Given the description of an element on the screen output the (x, y) to click on. 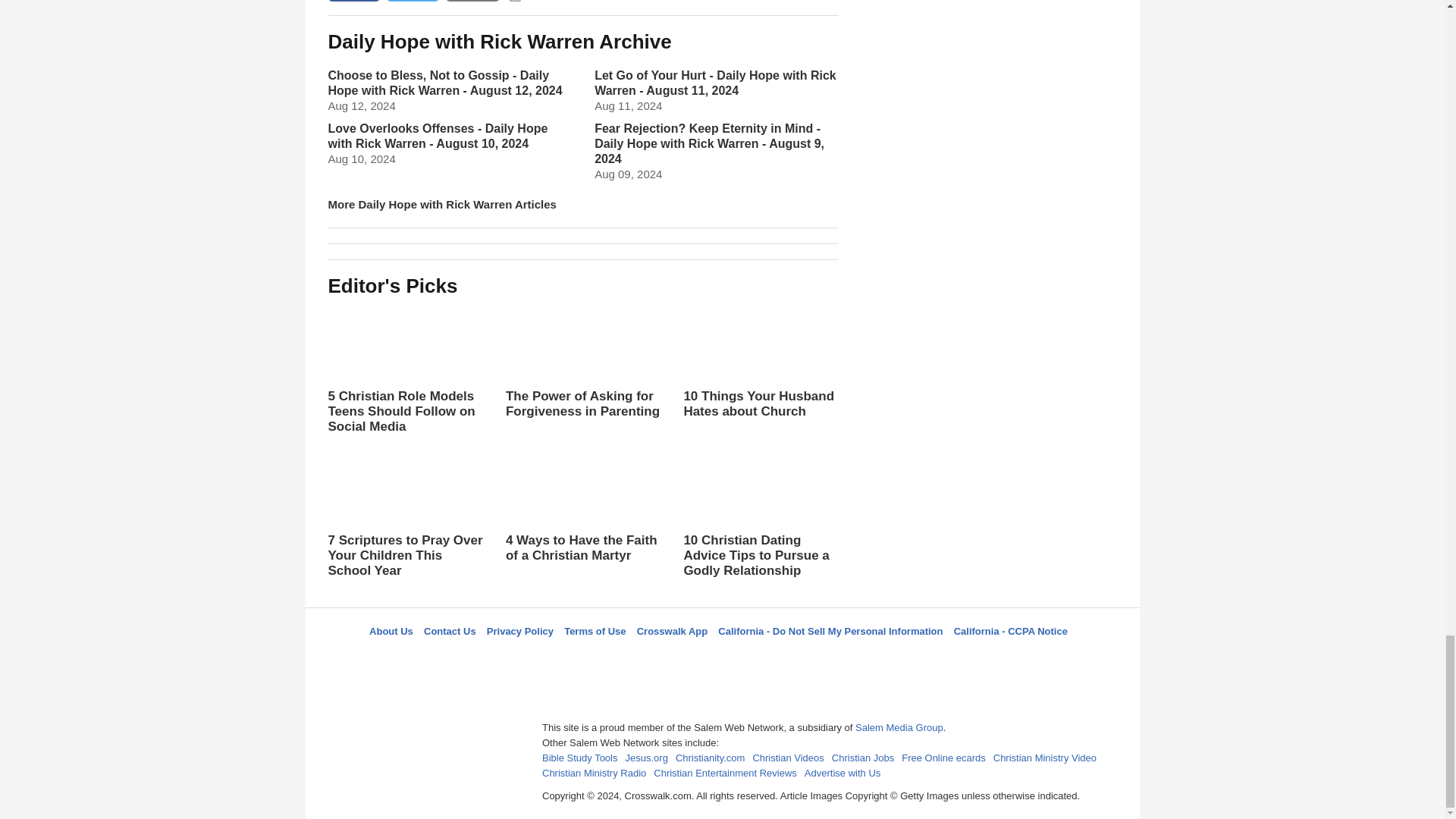
LifeAudio (719, 658)
Pinterest (757, 658)
5 Christian Role Models Teens Should Follow on Social Media (404, 368)
4 Ways to Have the Faith of a Christian Martyr (583, 505)
10 Things Your Husband Hates about Church (760, 361)
7 Scriptures to Pray Over Your Children This School Year (404, 512)
Twitter (683, 658)
Facebook (645, 658)
The Power of Asking for Forgiveness in Parenting (583, 375)
